Given the description of an element on the screen output the (x, y) to click on. 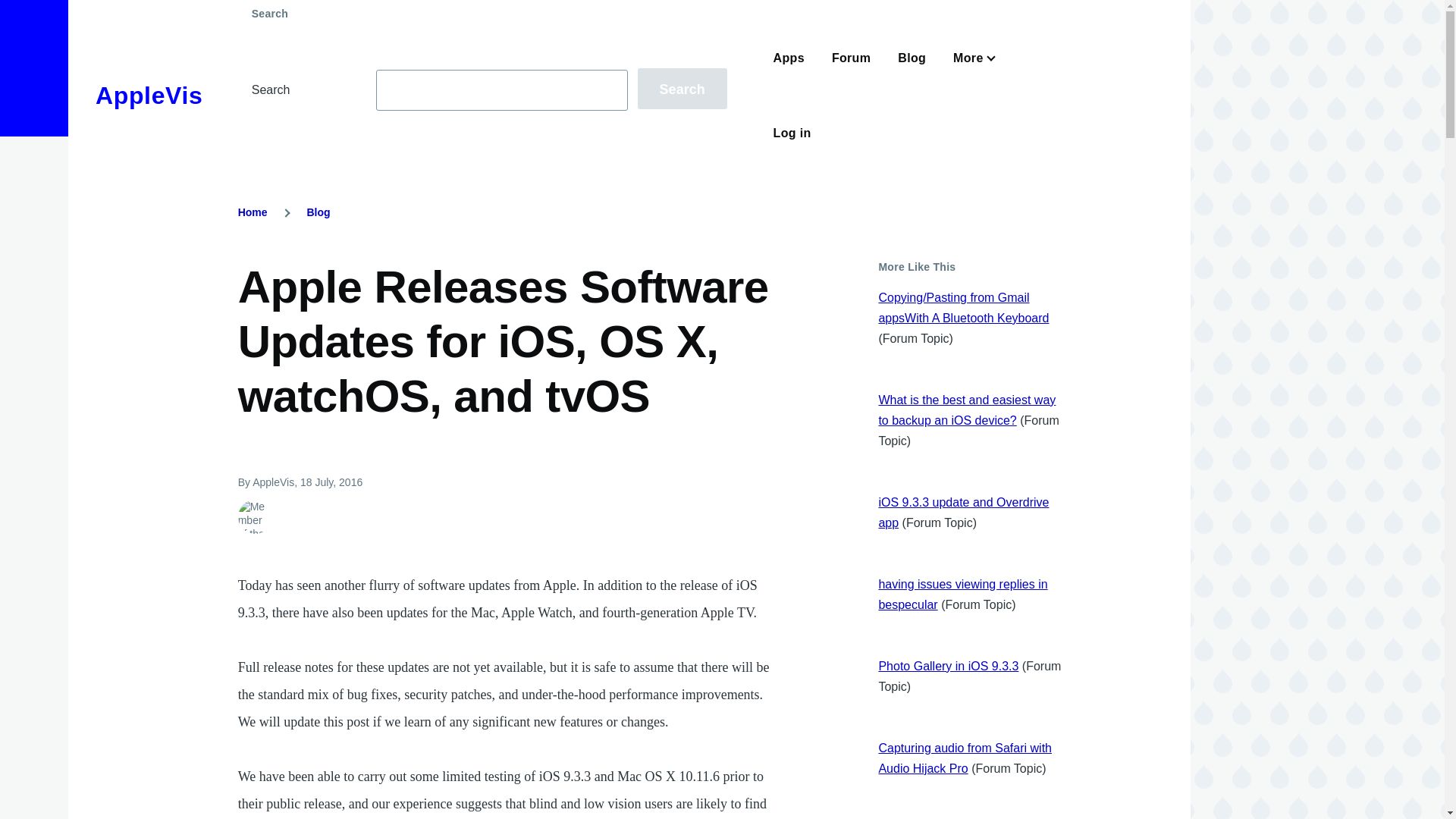
Skip to main content (595, 6)
AppleVis (149, 94)
Search (681, 87)
Home (149, 94)
Blog (317, 212)
Search (681, 87)
having issues viewing replies in bespecular (961, 594)
What is the best and easiest way to backup an iOS device? (966, 409)
Photo Gallery in iOS 9.3.3 (947, 666)
Home (252, 212)
iOS 9.3.3 update and Overdrive app (962, 512)
